Given the description of an element on the screen output the (x, y) to click on. 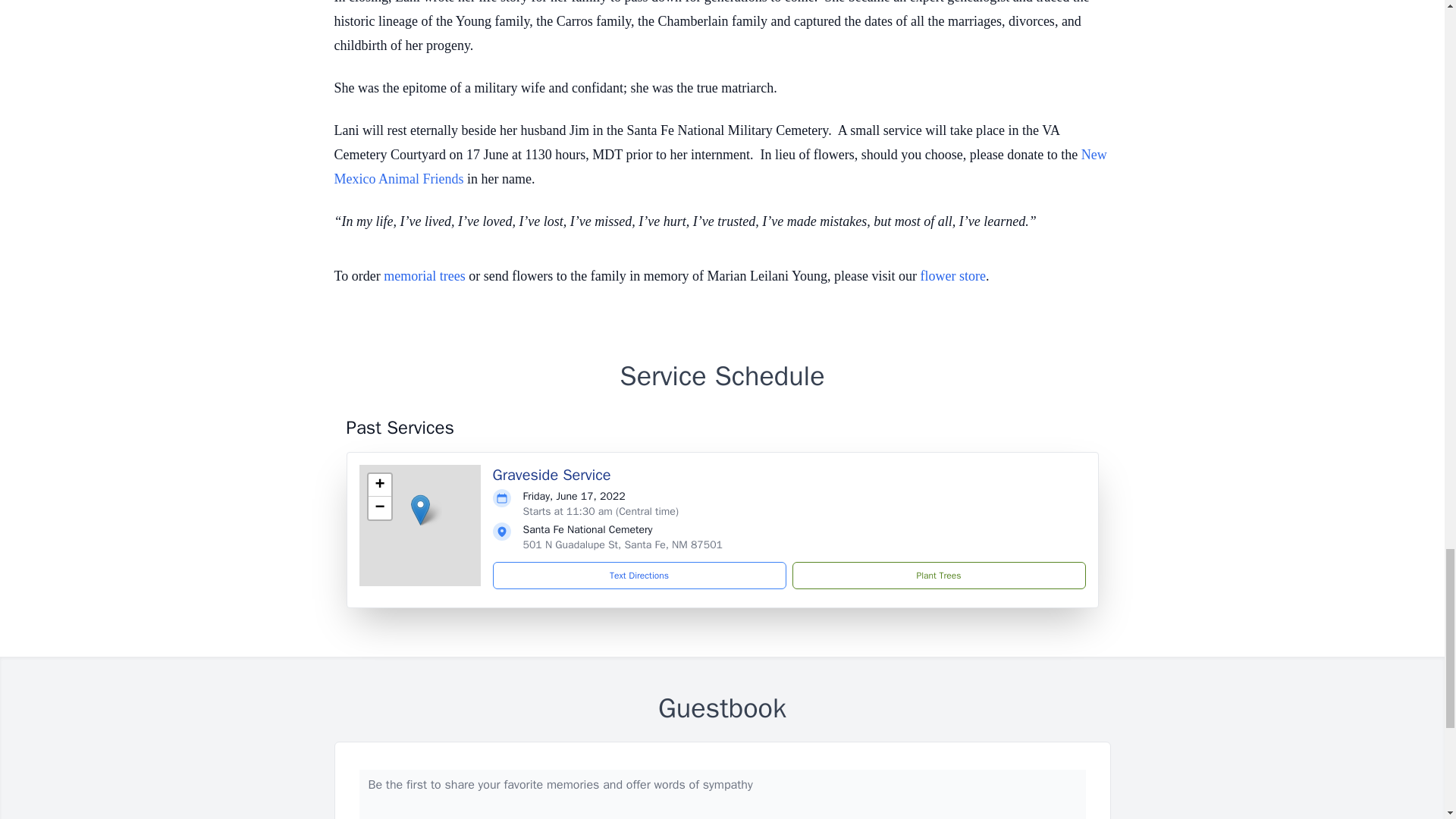
memorial trees (424, 275)
Text Directions (639, 574)
flower store (952, 275)
New Mexico Animal Friends (719, 166)
Plant Trees (938, 574)
Zoom in (379, 485)
Zoom out (379, 507)
501 N Guadalupe St, Santa Fe, NM 87501 (622, 544)
